Given the description of an element on the screen output the (x, y) to click on. 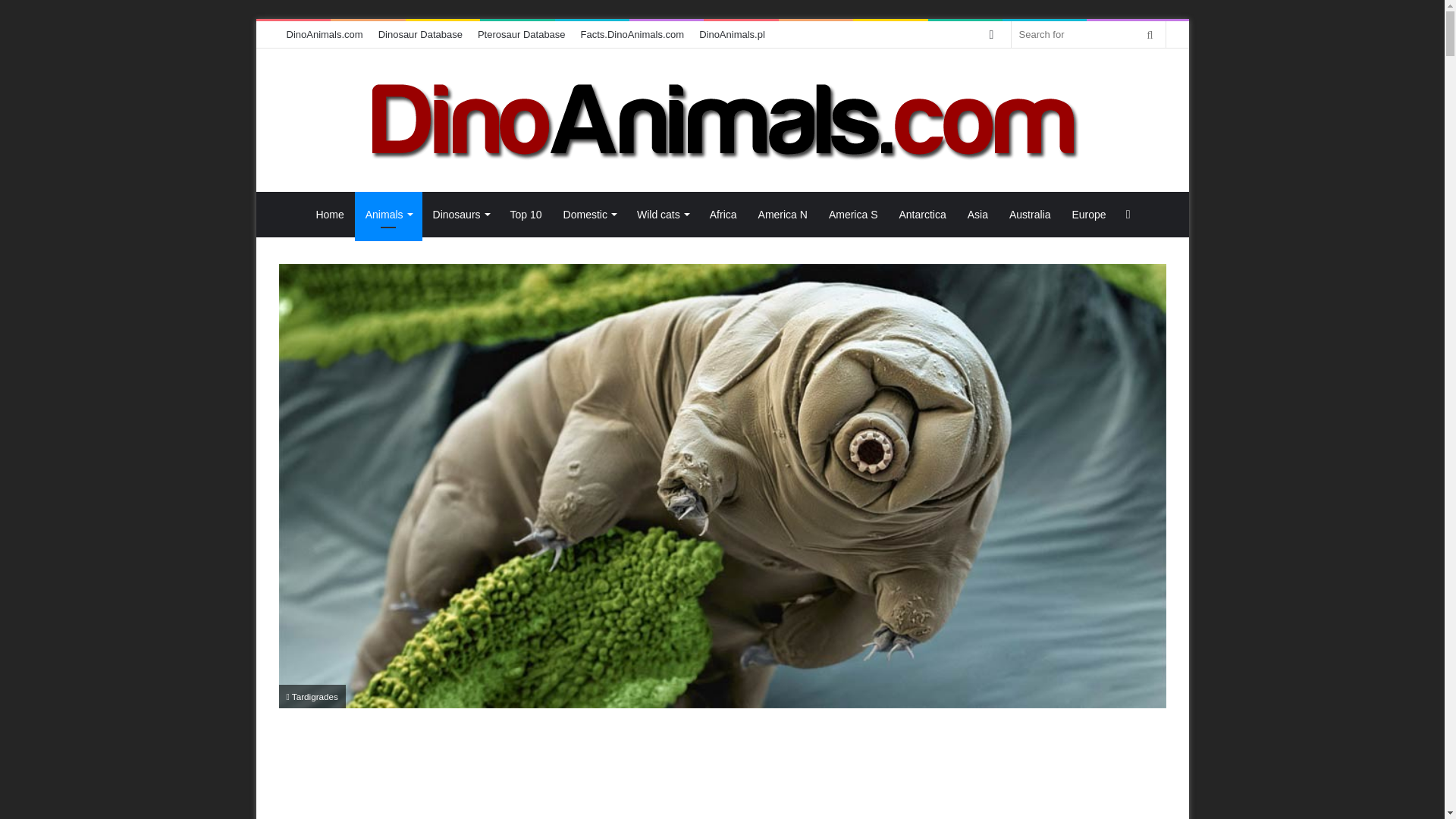
Pterosaur Database (521, 34)
Dinosaur Database (420, 34)
Animals (388, 214)
DinoAnimals.pl (732, 34)
DinoAnimals.com (325, 34)
DinoAnimals.com (721, 119)
Facts, records, curiosities, trivia about animals (633, 34)
Dinosaur Database (420, 34)
Search for (1088, 34)
Search for (1150, 34)
